Given the description of an element on the screen output the (x, y) to click on. 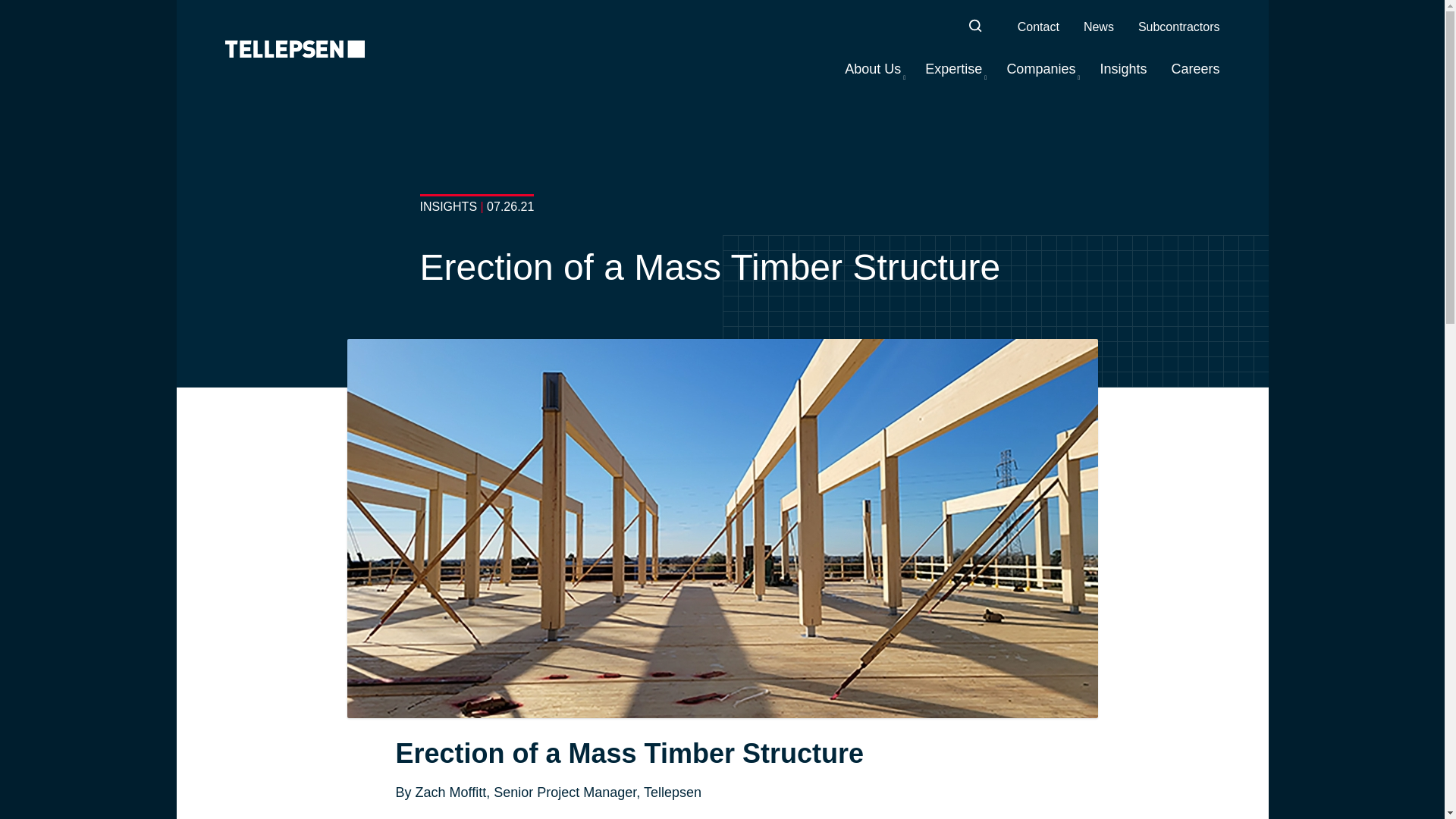
Subcontractors (1179, 26)
Expertise (952, 68)
About Us (872, 68)
Contact (1038, 26)
News (1098, 26)
